Given the description of an element on the screen output the (x, y) to click on. 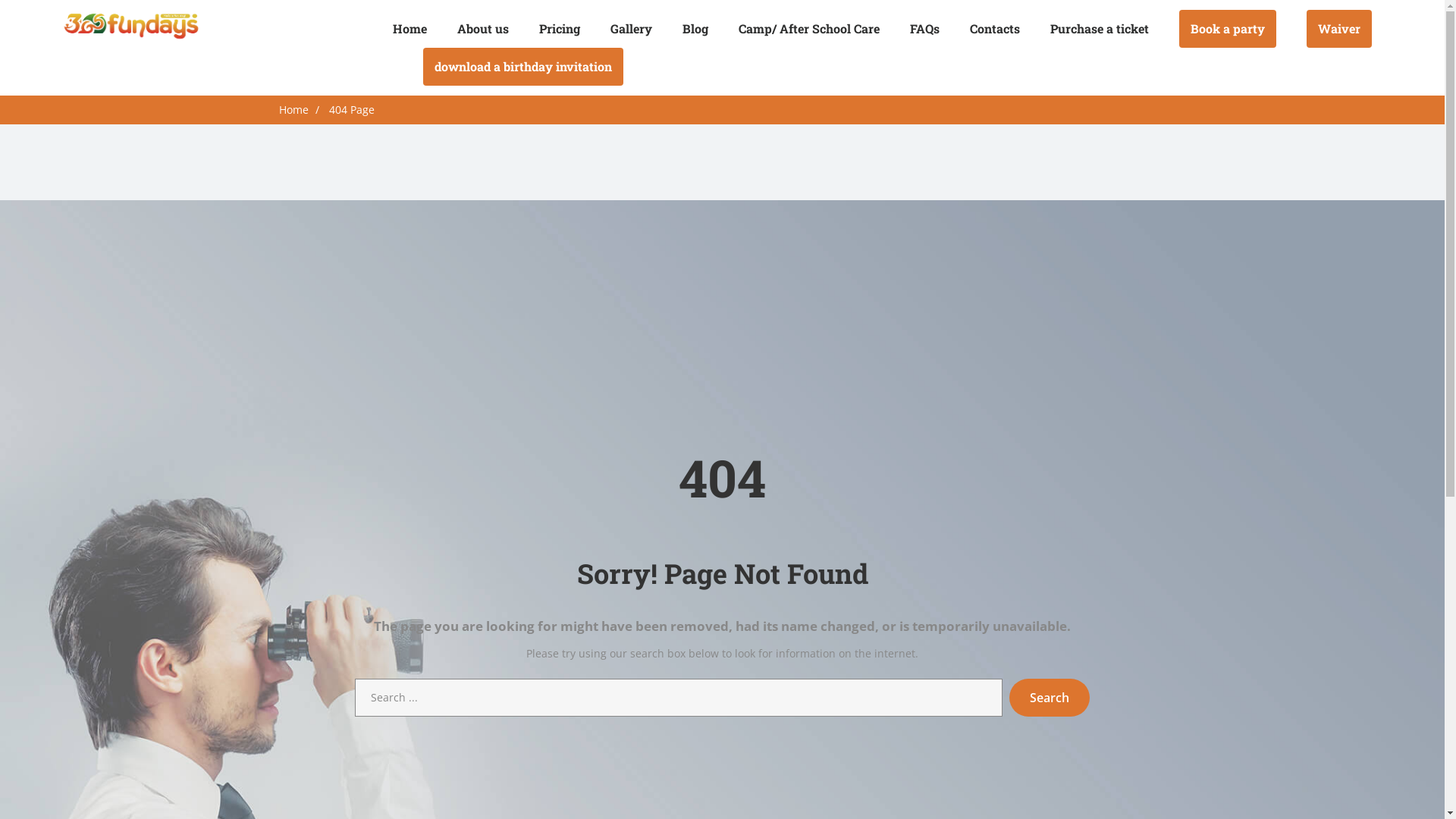
Contacts Element type: text (994, 28)
Purchase a ticket Element type: text (1098, 28)
Gallery Element type: text (630, 28)
download a birthday invitation Element type: text (523, 66)
Blog Element type: text (695, 28)
About us Element type: text (482, 28)
FAQs Element type: text (924, 28)
Camp/ After School Care Element type: text (808, 28)
Book a party Element type: text (1226, 28)
Home Element type: text (293, 109)
Waiver Element type: text (1338, 28)
Home Element type: text (409, 28)
Search Element type: text (1049, 697)
Pricing Element type: text (558, 28)
